Given the description of an element on the screen output the (x, y) to click on. 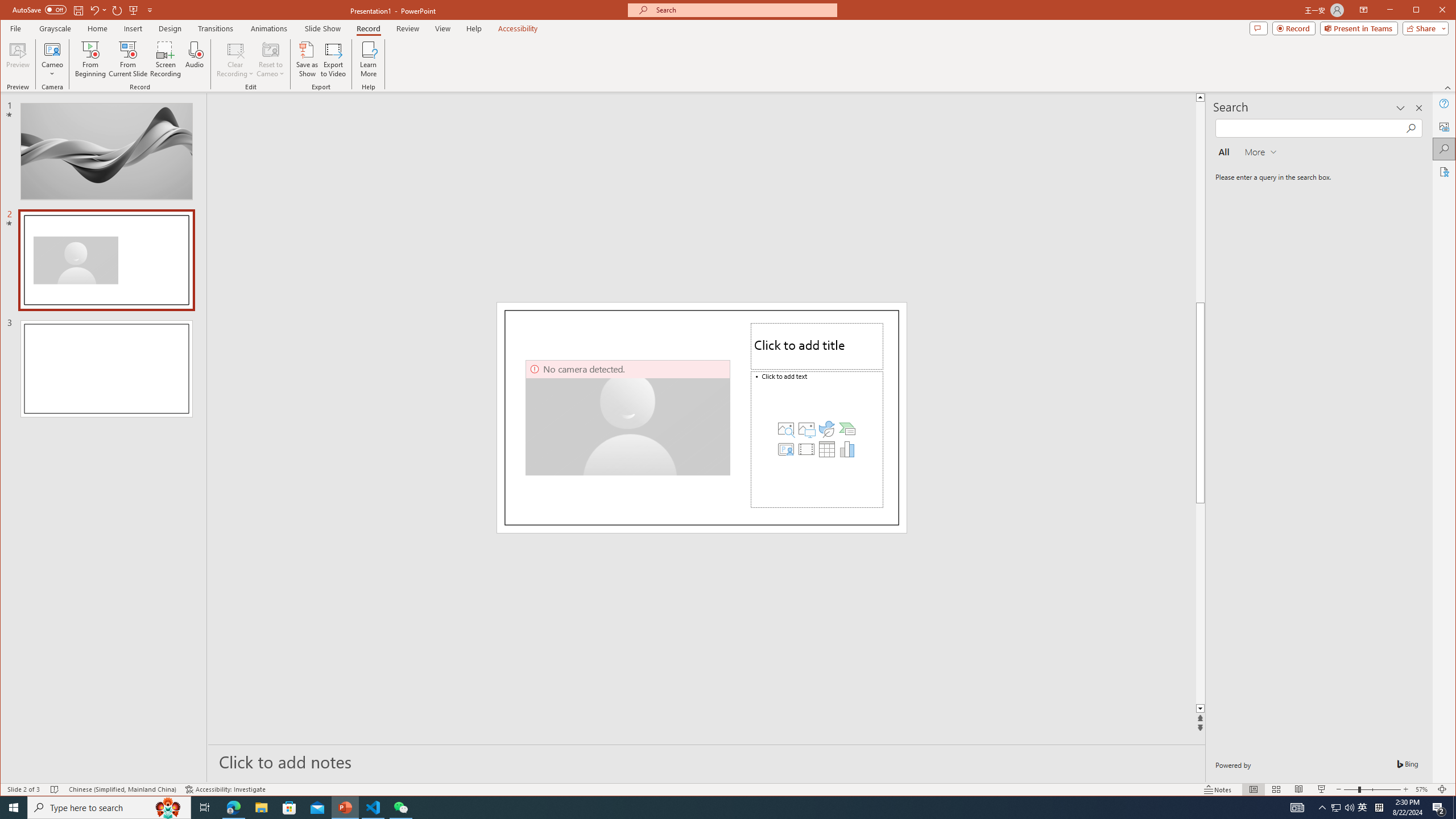
From Current Slide... (127, 59)
Content Placeholder (817, 439)
Learn More (368, 59)
Camera 4, No camera detected. (627, 417)
Stock Images (785, 428)
